Given the description of an element on the screen output the (x, y) to click on. 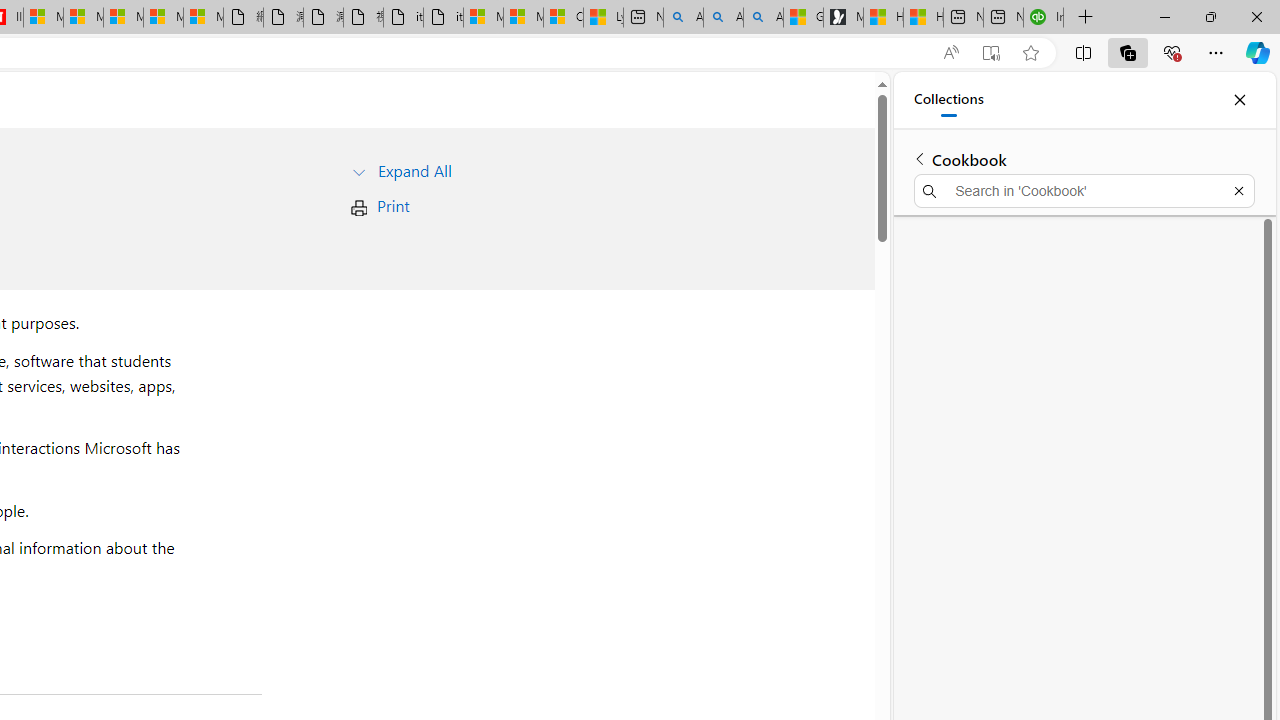
Exit search (1238, 190)
Back to list of collections (920, 158)
Consumer Health Data Privacy Policy (563, 17)
